Given the description of an element on the screen output the (x, y) to click on. 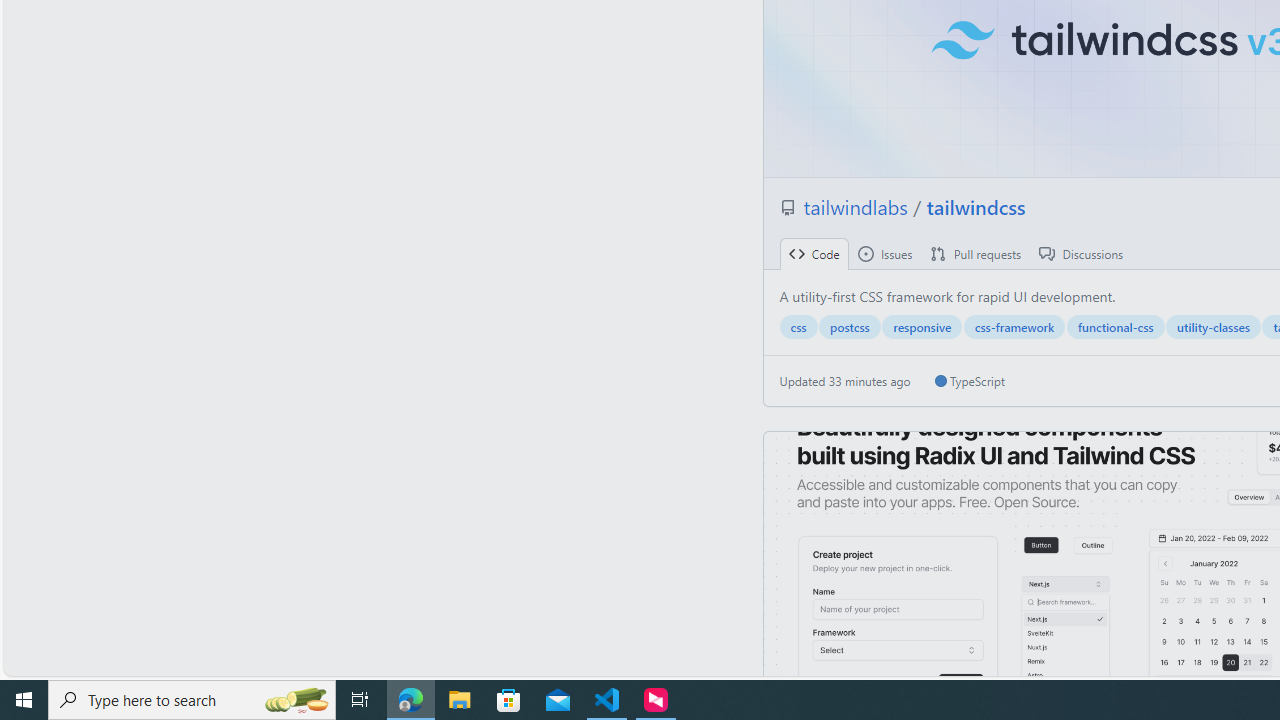
Updated 33 minutes ago (845, 381)
 Discussions (1081, 254)
 Issues (884, 254)
